Given the description of an element on the screen output the (x, y) to click on. 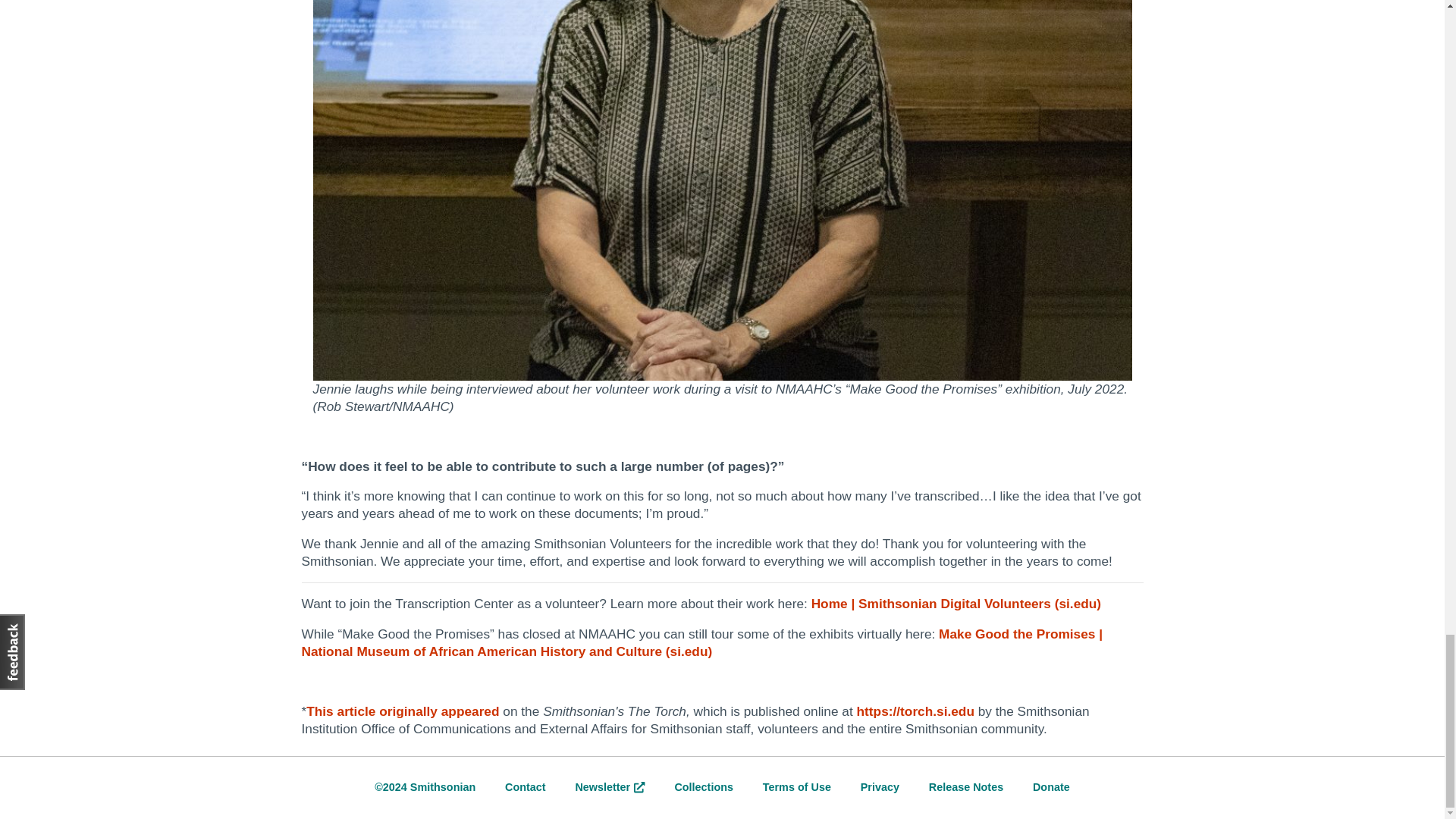
Collections (703, 787)
Contact (525, 787)
Release Notes (965, 787)
Terms of Use (796, 787)
Donate (1051, 787)
Privacy (879, 787)
Newsletter (610, 787)
This article originally appeared (403, 711)
